Given the description of an element on the screen output the (x, y) to click on. 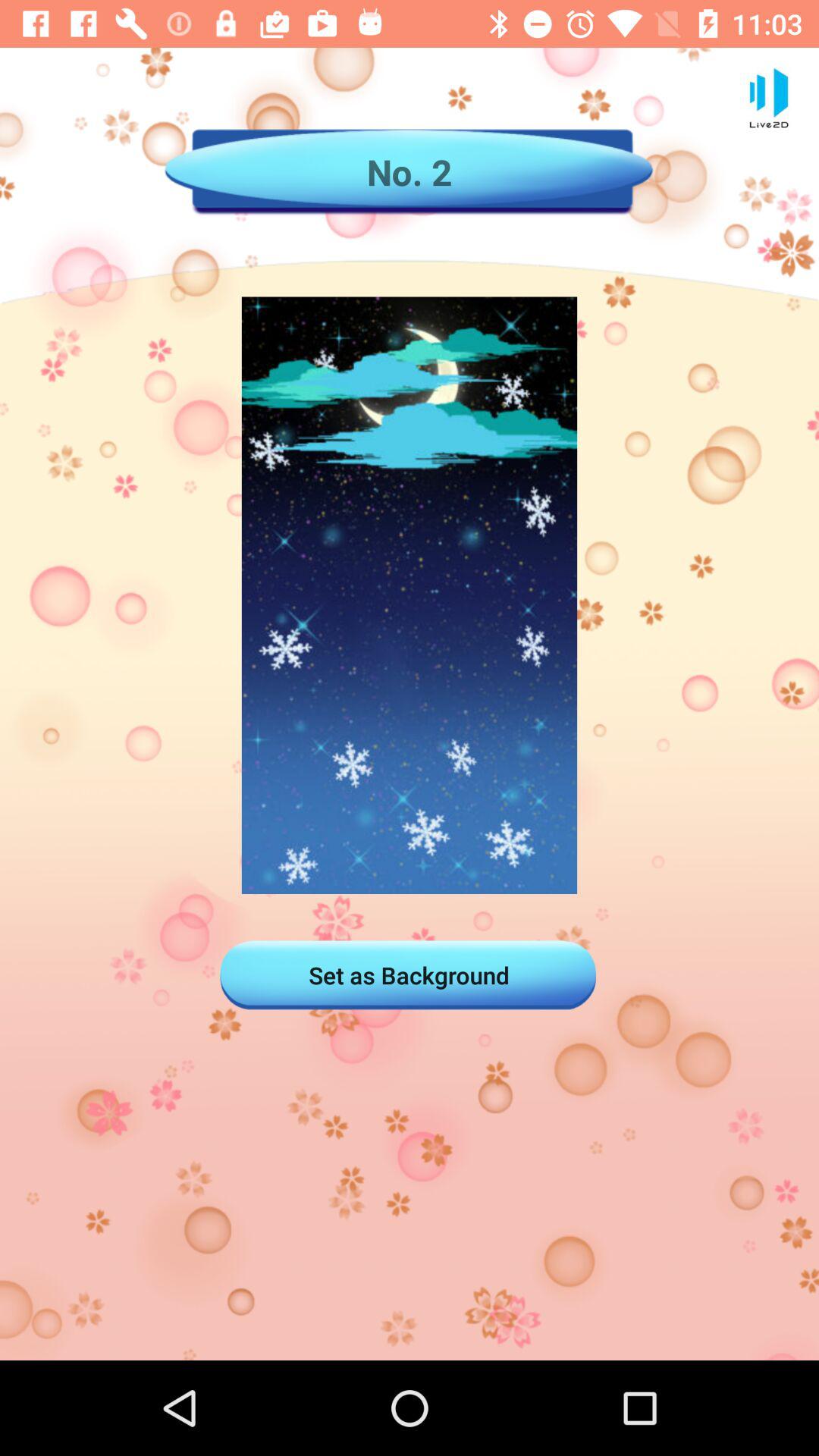
turn on the set as background icon (409, 975)
